Given the description of an element on the screen output the (x, y) to click on. 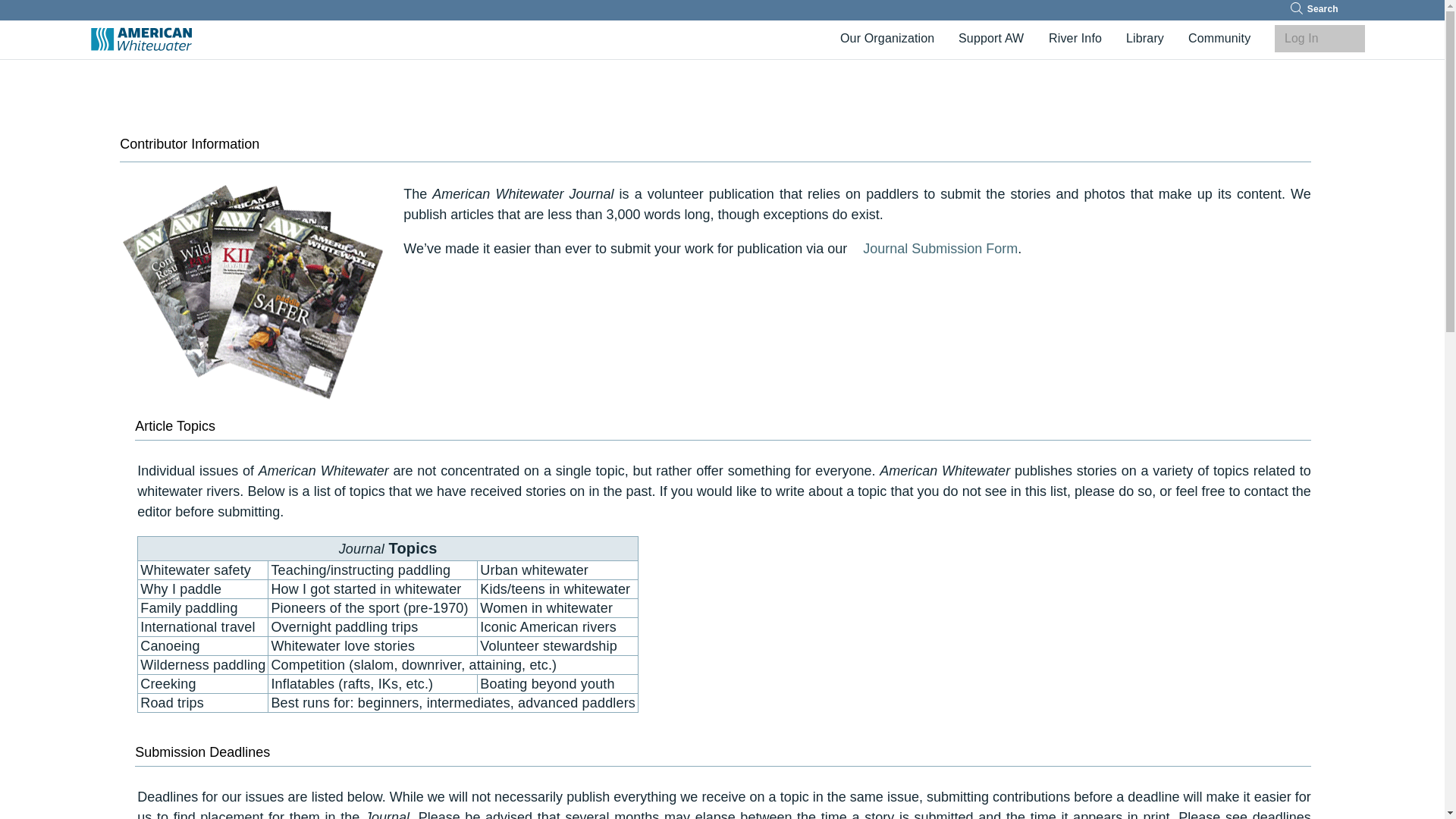
Our Organization (887, 38)
Library (1144, 38)
Search (1296, 8)
Support AW (990, 38)
Community (1219, 38)
River Info (1074, 38)
